Given the description of an element on the screen output the (x, y) to click on. 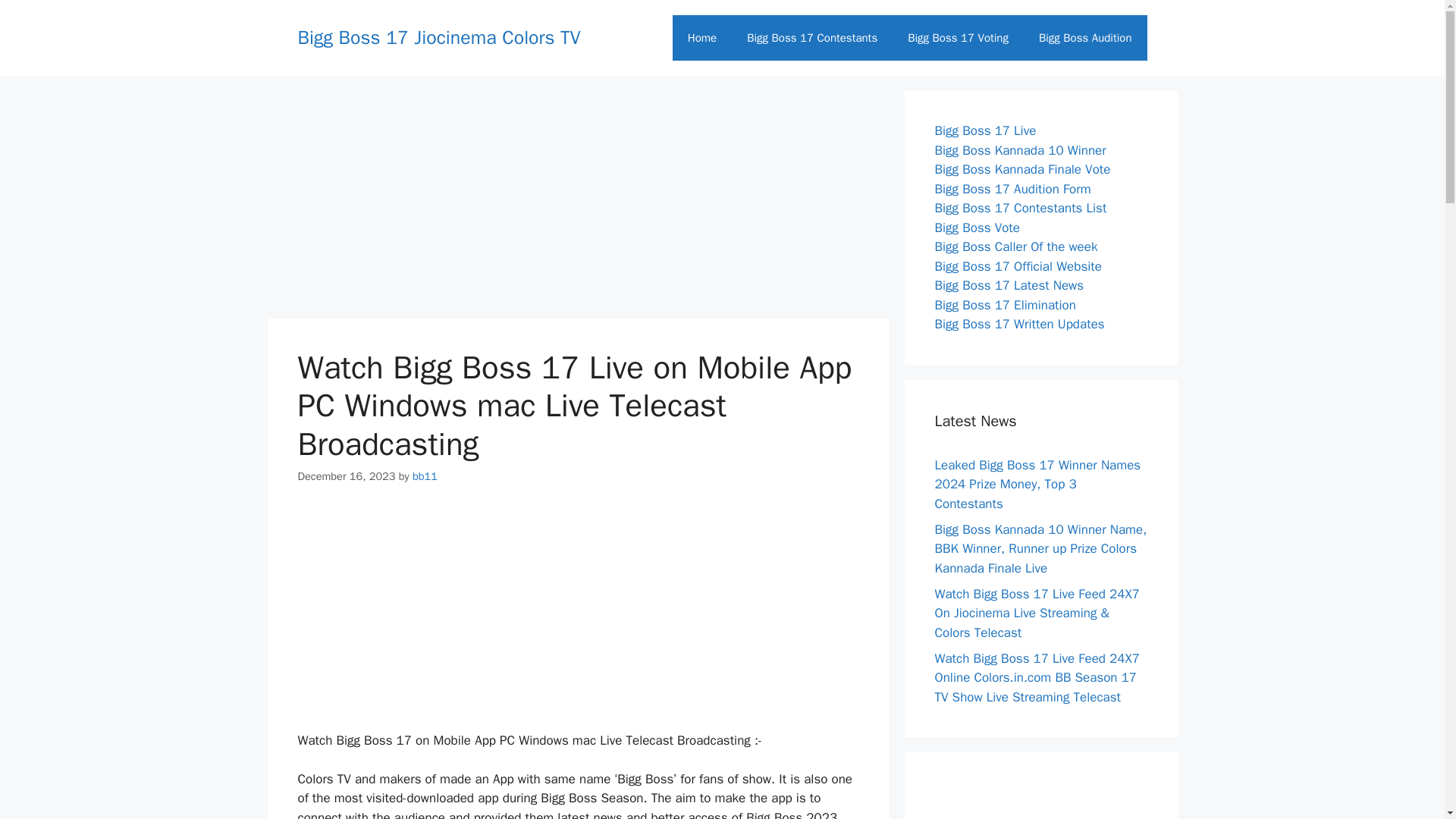
Advertisement (576, 617)
Home (702, 37)
View all posts by bb11 (425, 476)
Advertisement (577, 196)
Bigg Boss Audition (1085, 37)
Bigg Boss Kannada Finale Vote (1021, 169)
Bigg Boss Kannada 10 Winner (1019, 150)
Bigg Boss 17 Latest News (1008, 285)
Bigg Boss 17 Written Updates (1018, 324)
